Given the description of an element on the screen output the (x, y) to click on. 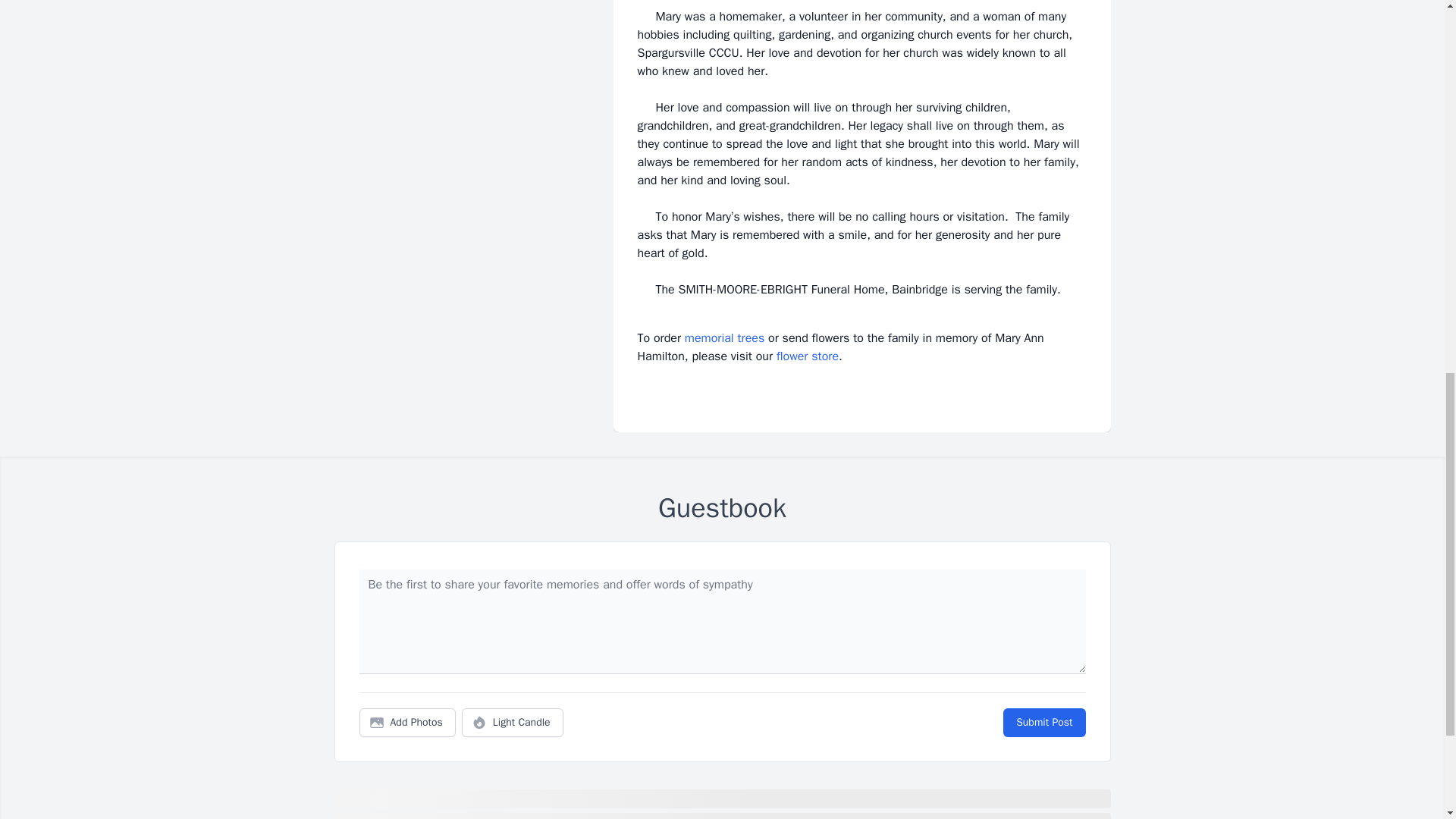
Submit Post (1043, 722)
Add Photos (407, 722)
flower store (807, 355)
memorial trees (724, 337)
Light Candle (512, 722)
